Given the description of an element on the screen output the (x, y) to click on. 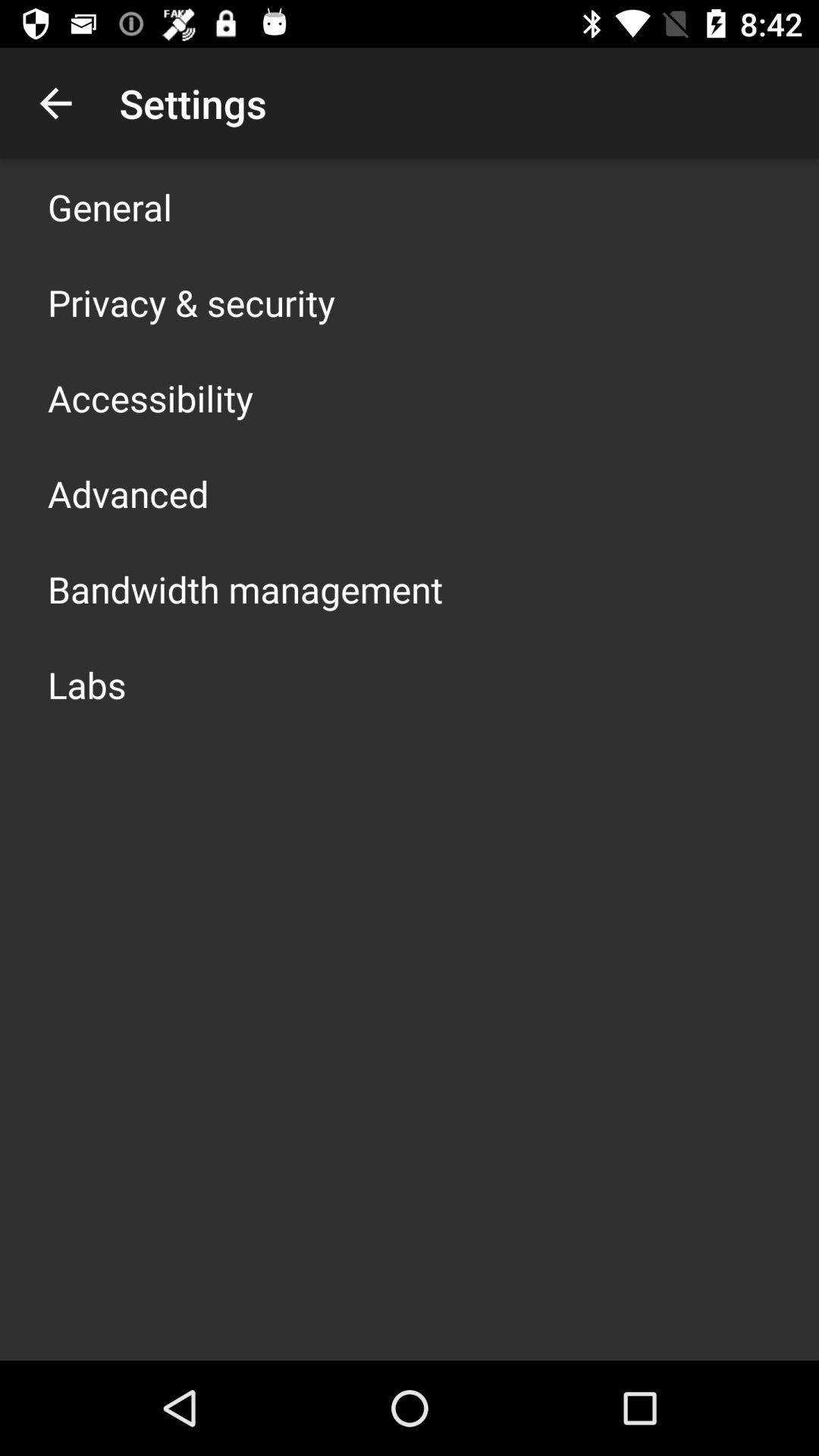
choose the app above the bandwidth management icon (127, 493)
